Given the description of an element on the screen output the (x, y) to click on. 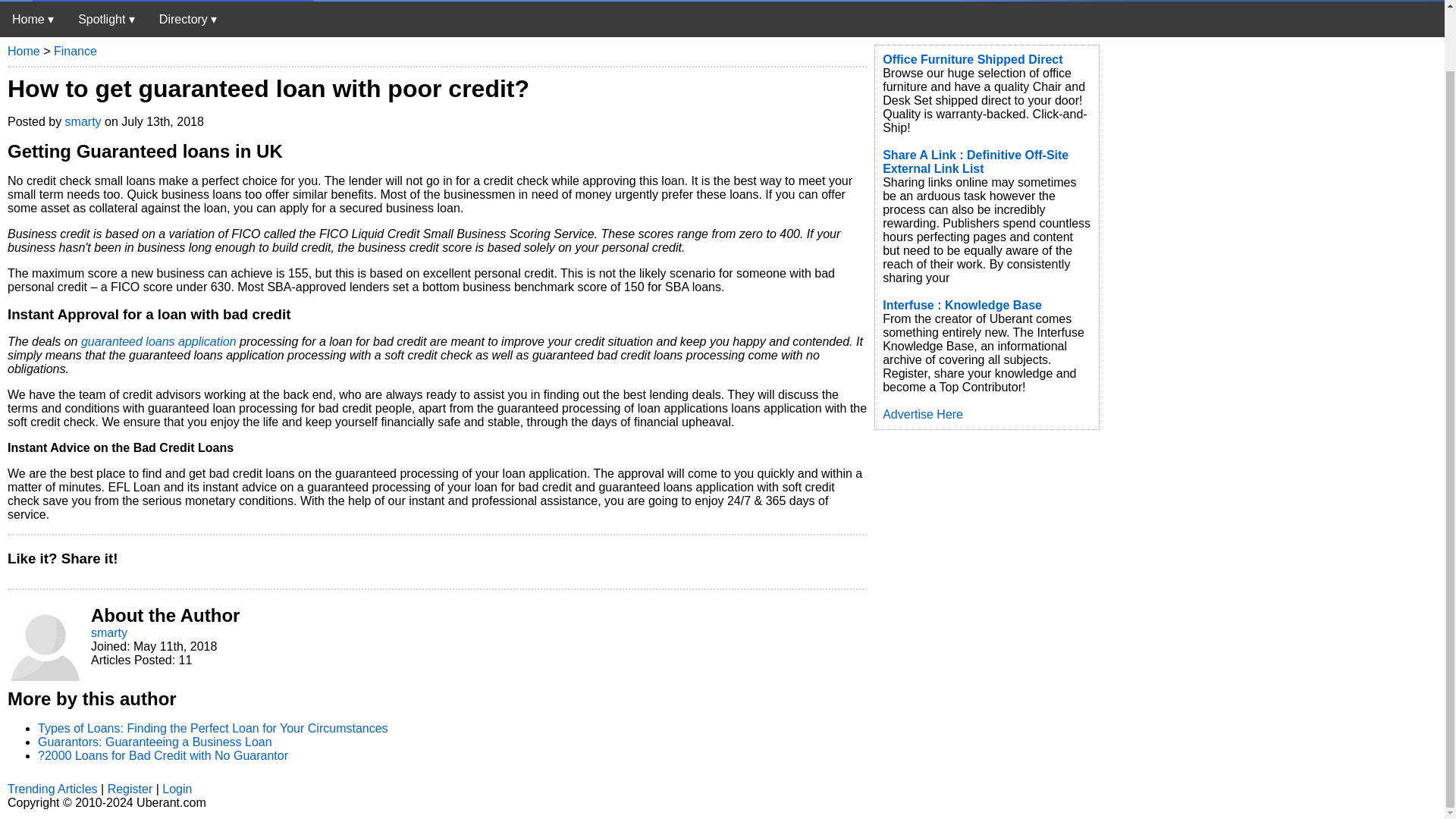
Uberant (32, 19)
Uberant (157, 2)
